Given the description of an element on the screen output the (x, y) to click on. 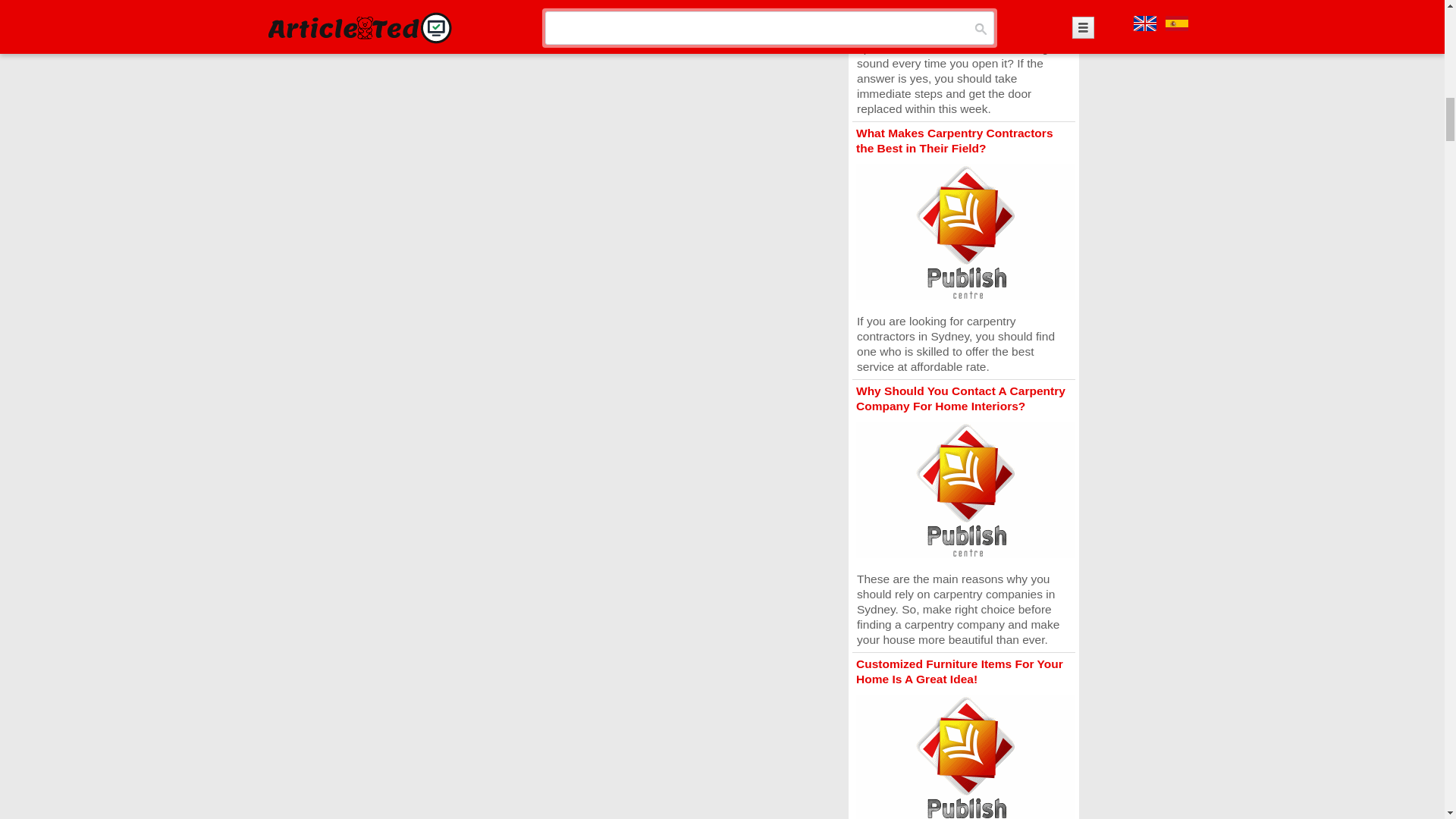
Customized Furniture Items For Your Home Is A Great Idea! (959, 671)
What Makes Carpentry Contractors the Best in Their Field? (954, 140)
